Given the description of an element on the screen output the (x, y) to click on. 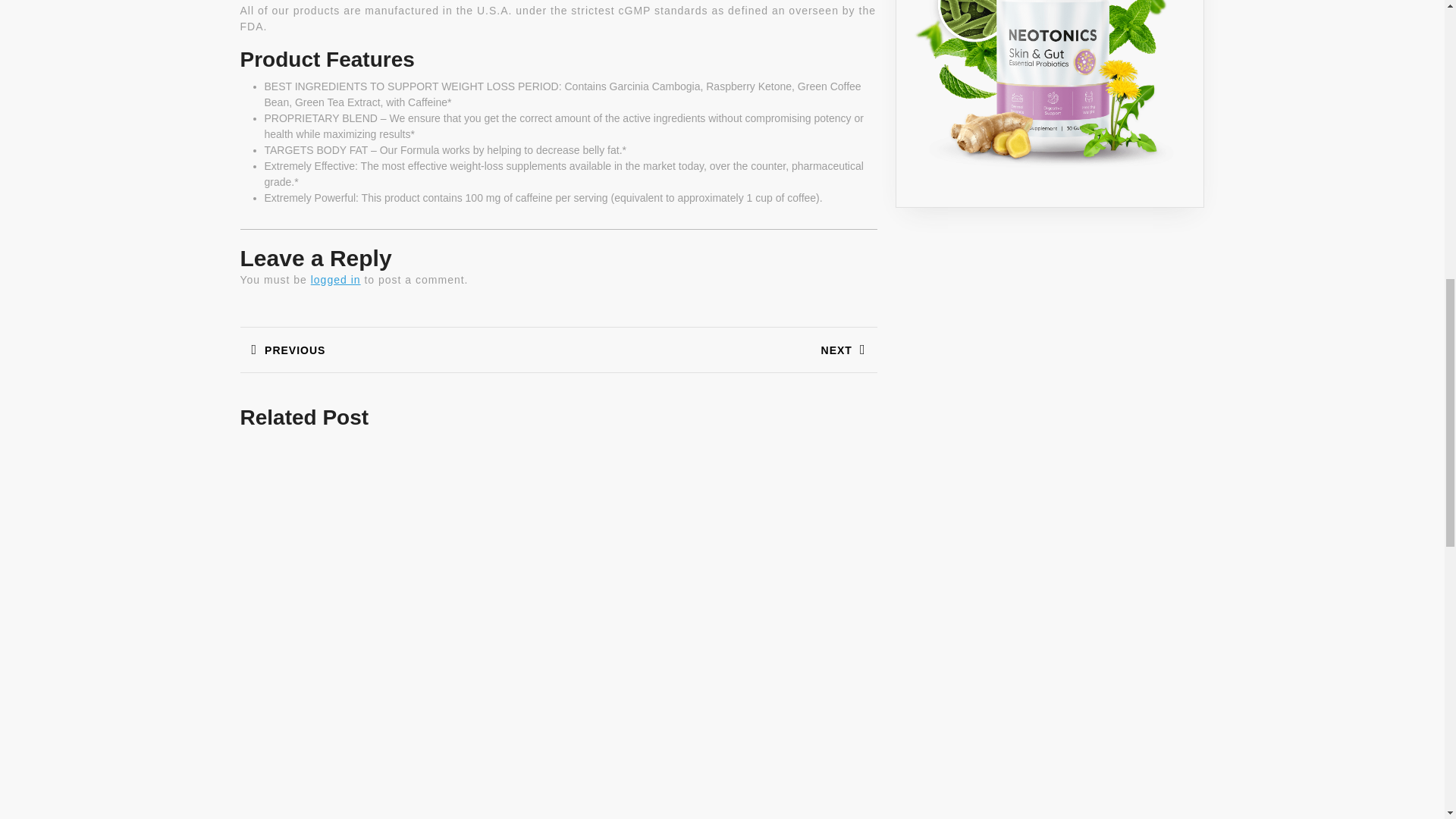
logged in (336, 279)
